Given the description of an element on the screen output the (x, y) to click on. 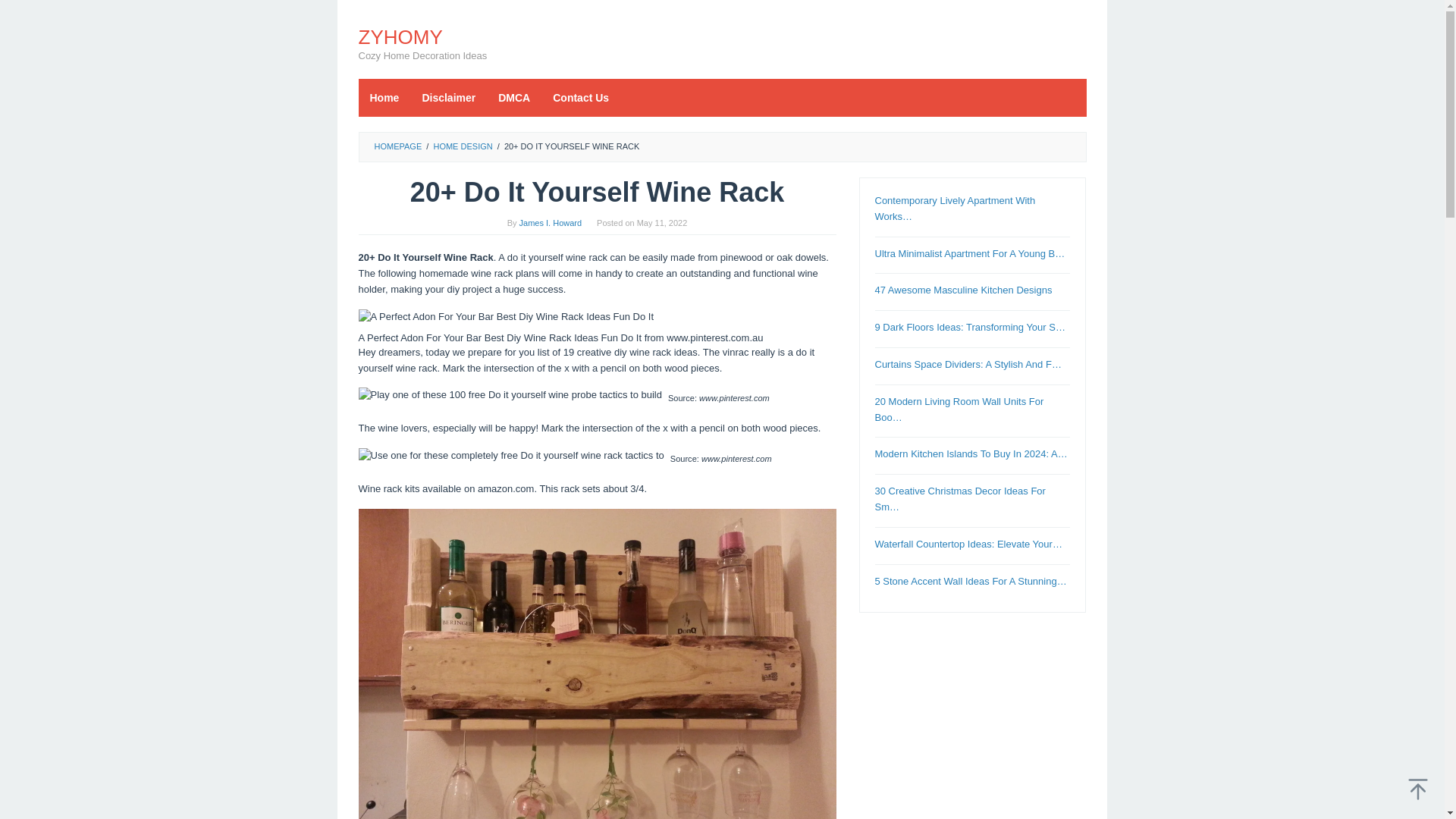
James I. Howard (550, 222)
Contact Us (580, 97)
47 Awesome Masculine Kitchen Designs (963, 289)
DMCA (513, 97)
Home (384, 97)
Disclaimer (448, 97)
ZYHOMY (400, 36)
HOME DESIGN (462, 145)
ZYHOMY (400, 36)
Permalink to: James I. Howard (550, 222)
HOMEPAGE (398, 145)
